Given the description of an element on the screen output the (x, y) to click on. 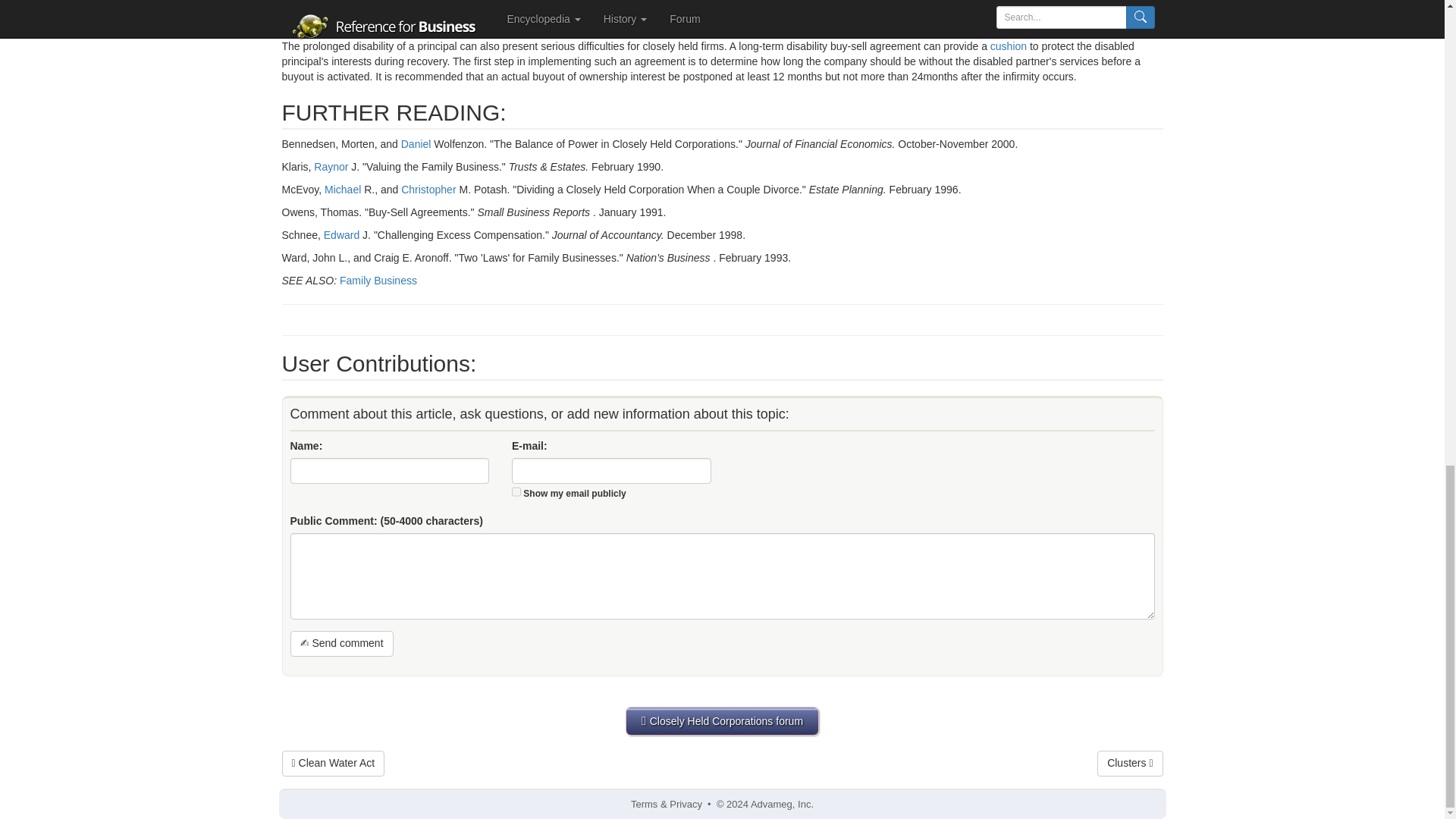
View 'michael' definition from Wikipedia (342, 189)
View 'raynor' definition from Wikipedia (330, 166)
View 'christopher' definition from Wikipedia (428, 189)
Edward (341, 234)
Michael (342, 189)
Raynor (330, 166)
Family Business (377, 280)
View 'cushion' definition from Wikipedia (1008, 46)
Daniel (415, 143)
Clusters (1129, 763)
